Given the description of an element on the screen output the (x, y) to click on. 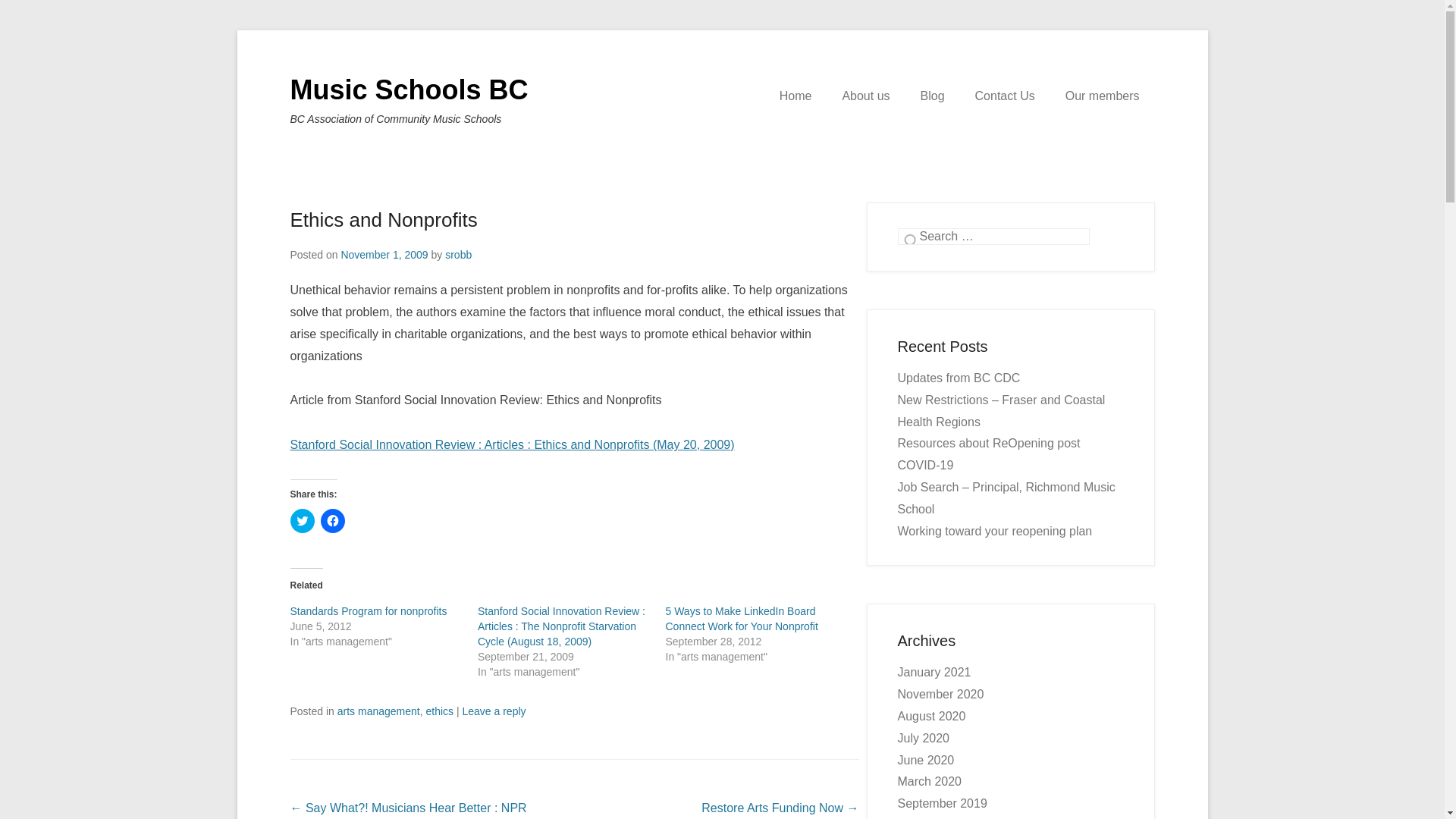
Ethics and Nonprofits Element type: text (382, 219)
November 1, 2009 Element type: text (383, 254)
March 2020 Element type: text (929, 781)
Resources about ReOpening post COVID-19 Element type: text (988, 453)
ethics Element type: text (440, 711)
Music Schools BC Element type: text (408, 89)
About us Element type: text (865, 95)
arts management Element type: text (378, 711)
Leave a reply Element type: text (494, 711)
September 2019 Element type: text (942, 803)
July 2020 Element type: text (923, 737)
November 2020 Element type: text (940, 693)
Our members Element type: text (1102, 95)
Blog Element type: text (932, 95)
August 2020 Element type: text (931, 715)
June 2020 Element type: text (925, 759)
Home Element type: text (795, 95)
Contact Us Element type: text (1005, 95)
Click to share on Facebook (Opens in new window) Element type: text (332, 520)
Standards Program for nonprofits Element type: text (367, 611)
January 2021 Element type: text (934, 671)
Working toward your reopening plan Element type: text (994, 530)
Updates from BC CDC Element type: text (958, 377)
srobb Element type: text (458, 254)
Search Element type: text (32, 15)
Click to share on Twitter (Opens in new window) Element type: text (301, 520)
